Given the description of an element on the screen output the (x, y) to click on. 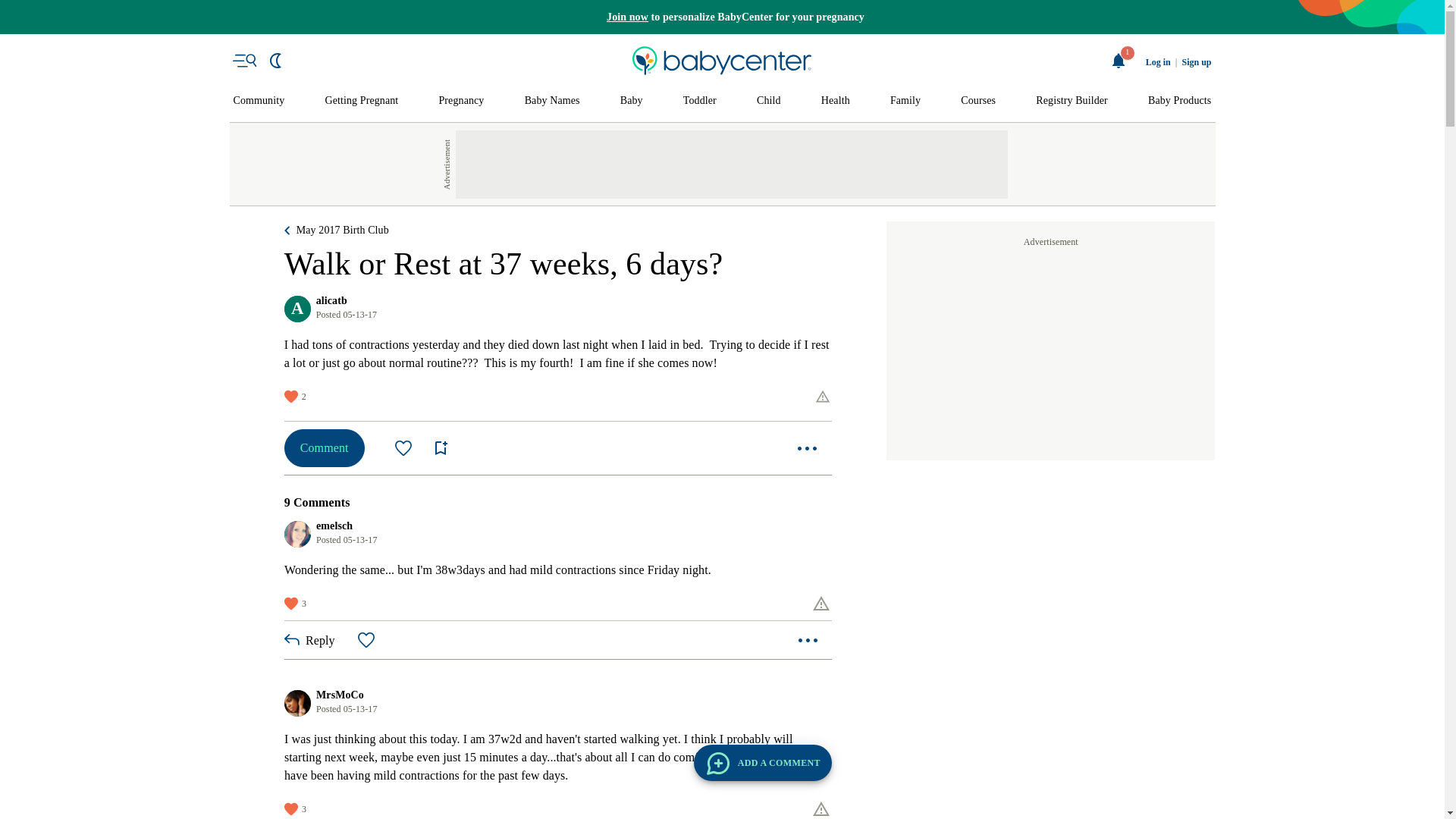
Baby Products (1179, 101)
Baby (631, 101)
Health (835, 101)
Toddler (699, 101)
Baby Names (551, 101)
Pregnancy (460, 101)
1 (1118, 60)
Child (768, 101)
Log in (1157, 61)
Sign up (1195, 61)
Community (258, 101)
Registry Builder (1071, 101)
Getting Pregnant (360, 101)
Family (904, 101)
Courses (977, 101)
